Given the description of an element on the screen output the (x, y) to click on. 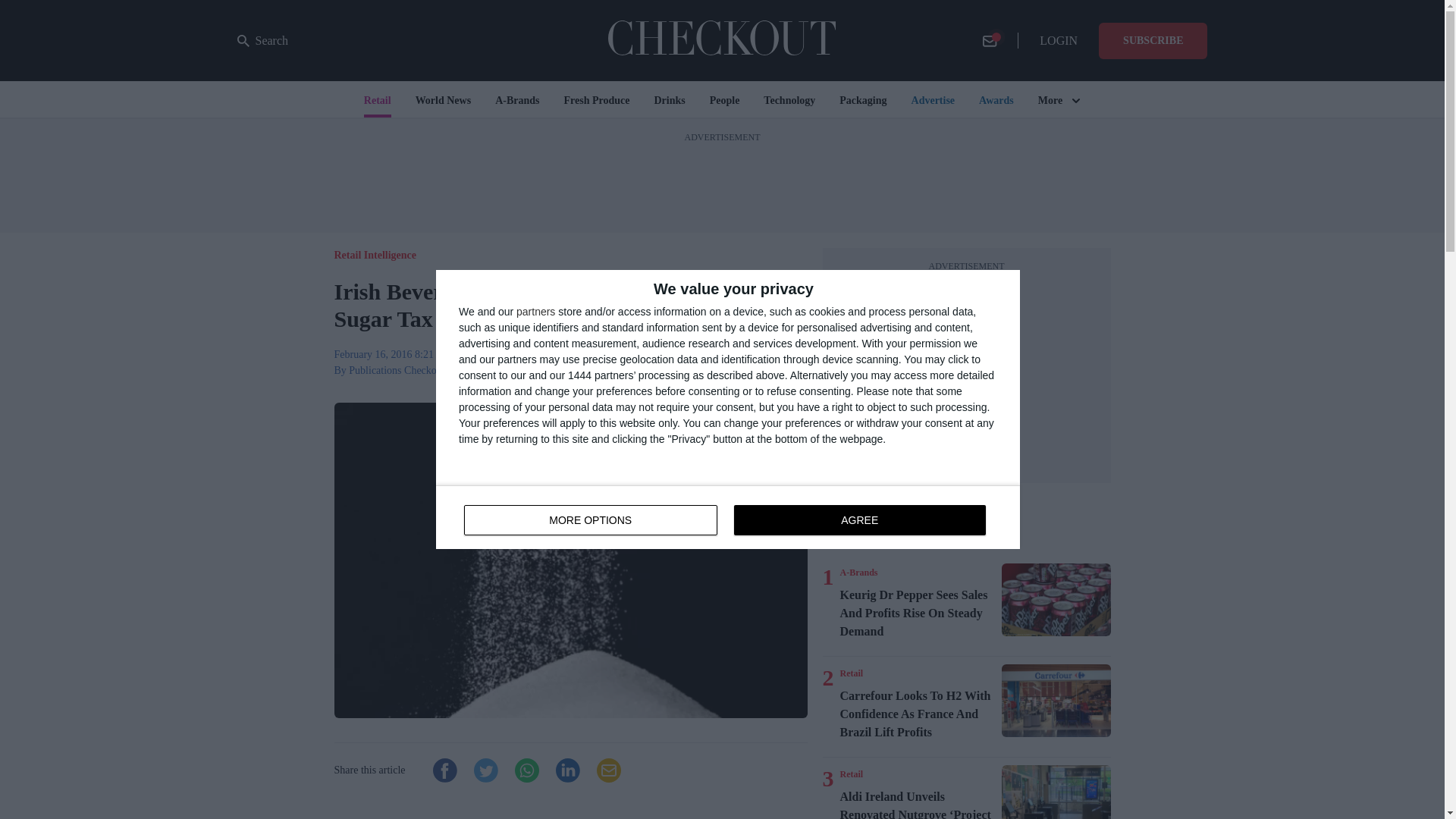
Retail (851, 774)
Search (261, 40)
A-Brands (727, 516)
Retail (858, 572)
